Given the description of an element on the screen output the (x, y) to click on. 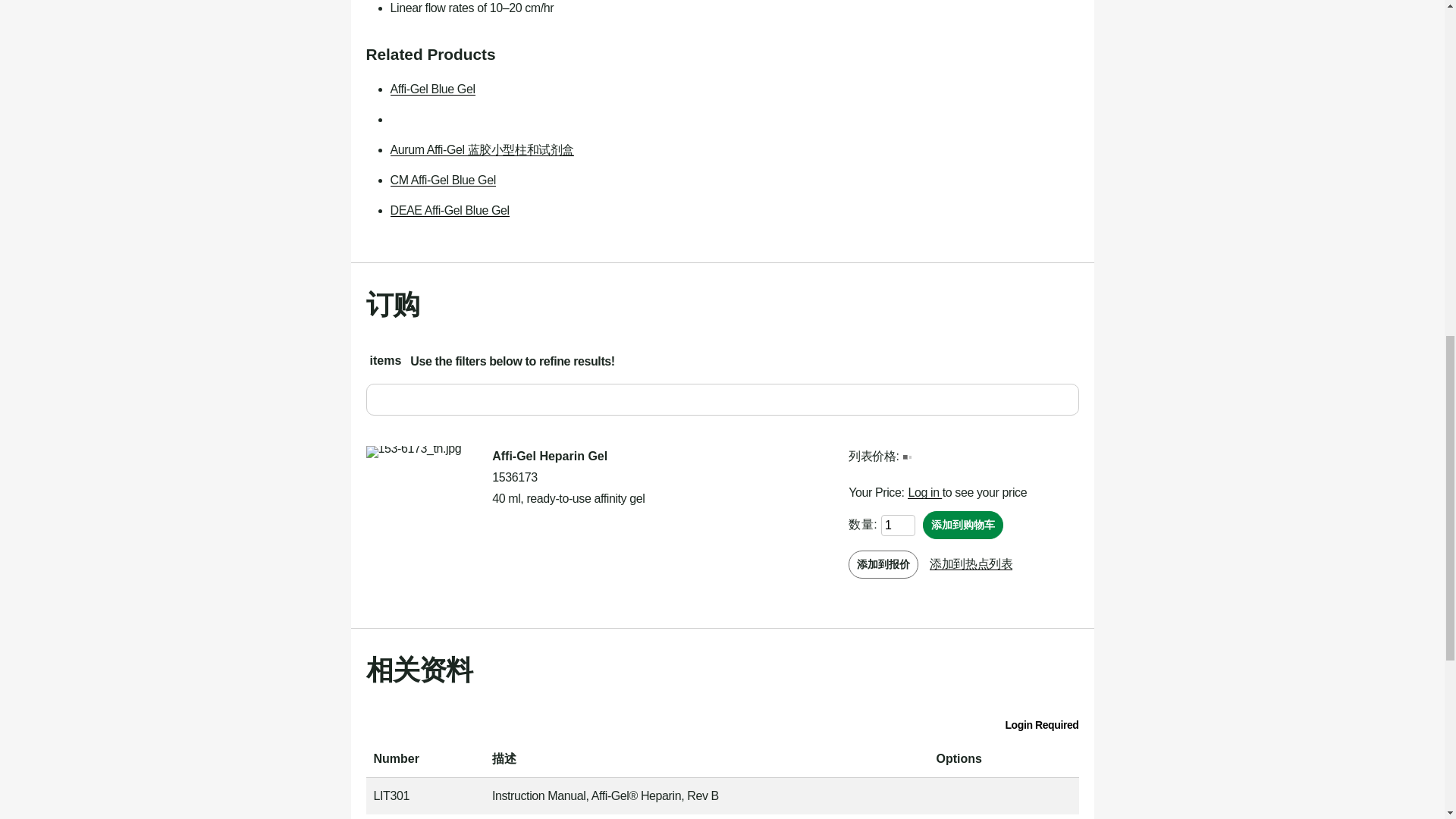
1 (897, 524)
